Given the description of an element on the screen output the (x, y) to click on. 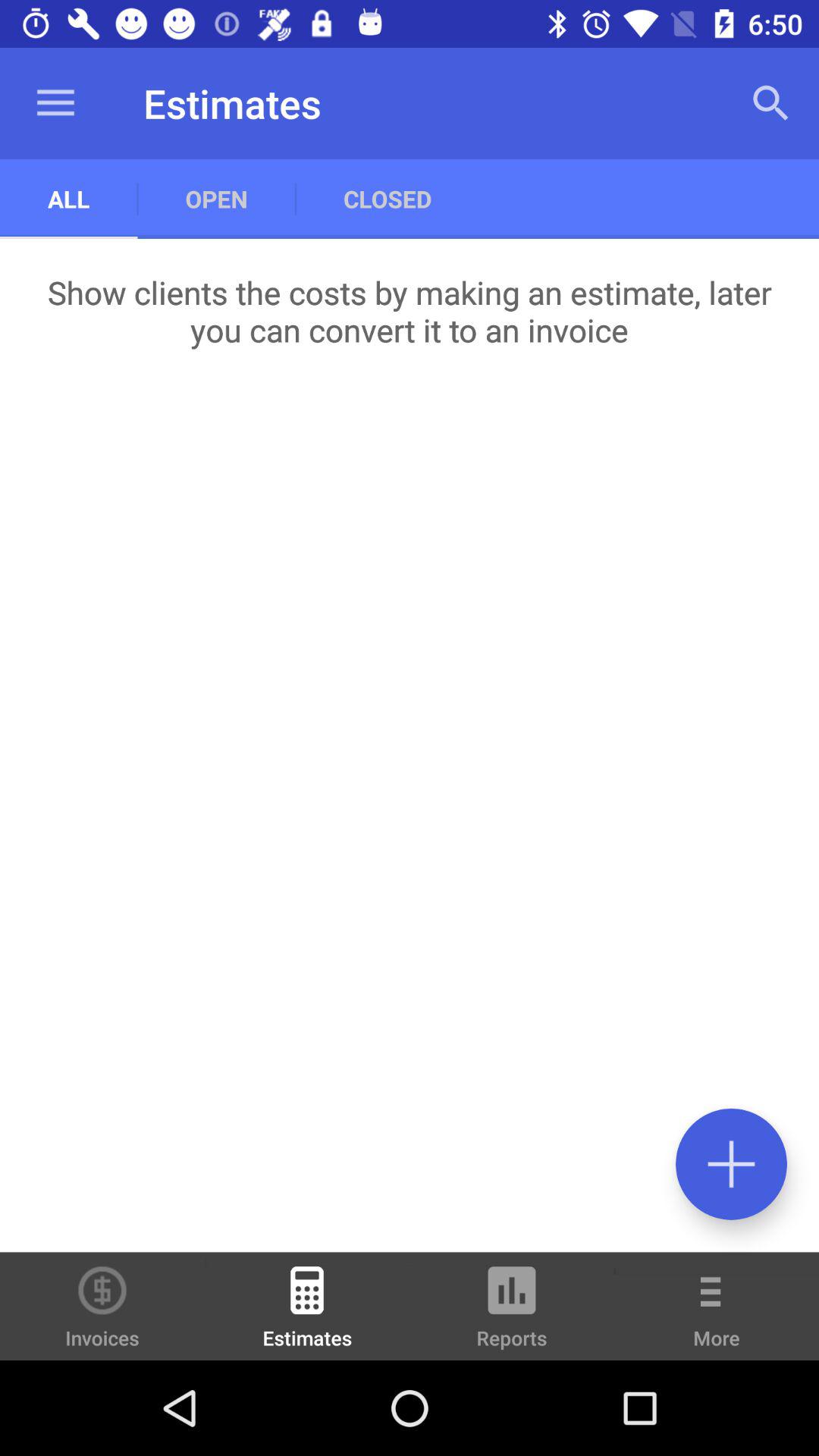
press icon to the right of the estimates icon (511, 1313)
